Given the description of an element on the screen output the (x, y) to click on. 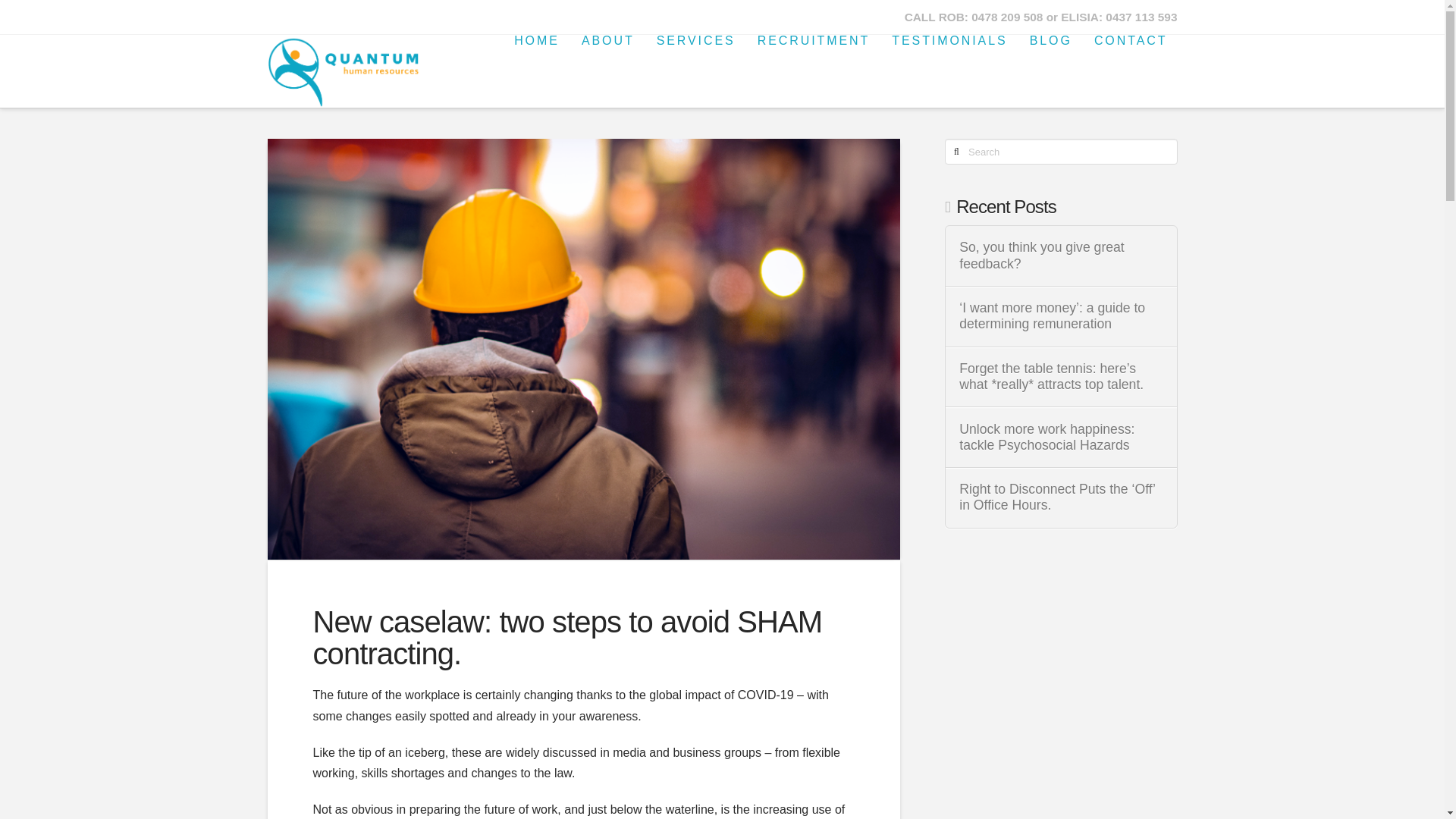
TESTIMONIALS (947, 69)
BLOG (1049, 69)
ABOUT (607, 69)
RECRUITMENT (812, 69)
CONTACT (1129, 69)
SERVICES (695, 69)
Unlock more work happiness: tackle Psychosocial Hazards (1060, 437)
So, you think you give great feedback? (1060, 255)
HOME (535, 69)
